Given the description of an element on the screen output the (x, y) to click on. 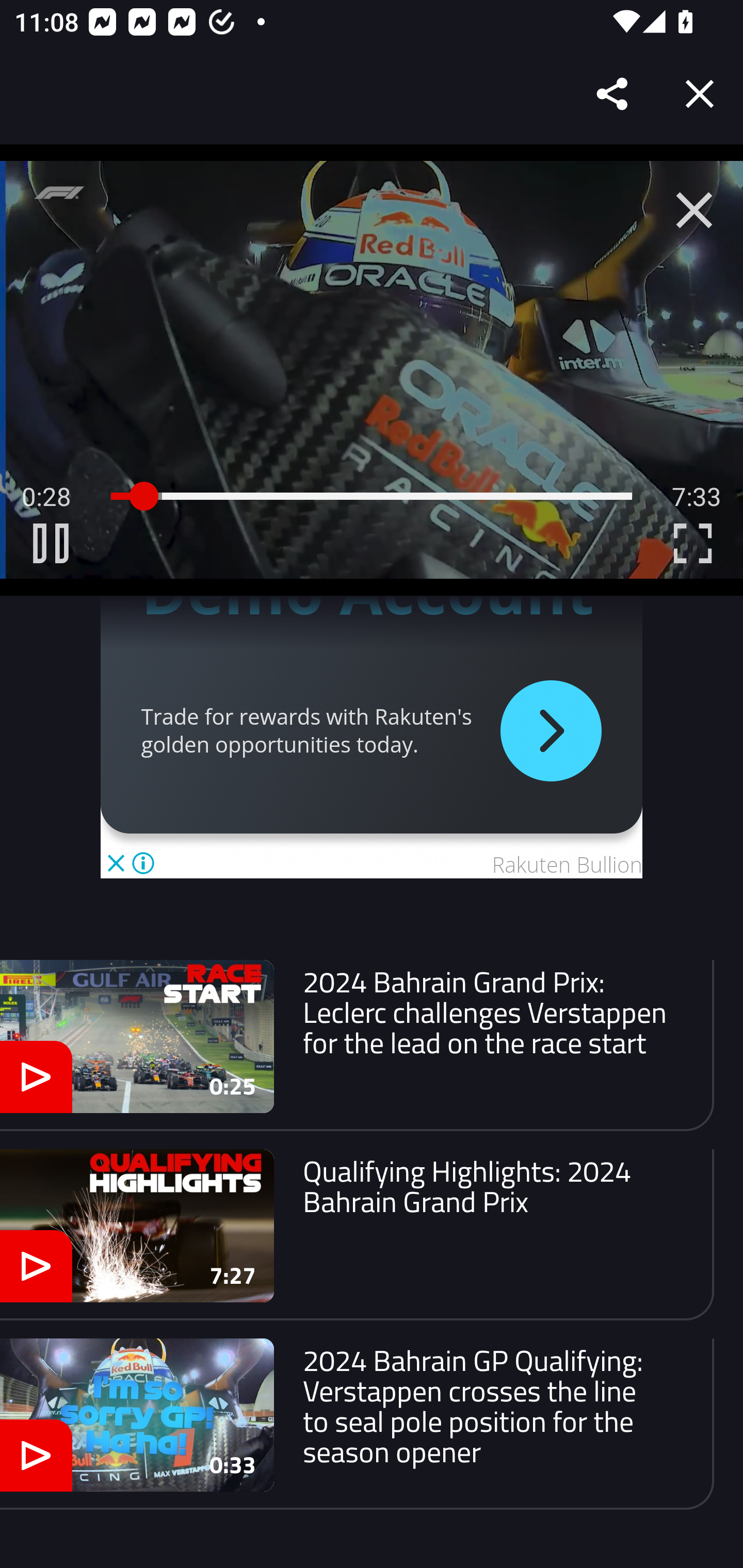
Share (612, 93)
Close (699, 93)
 Close (693, 210)
B Pause (50, 543)
C Enter Fullscreen (692, 543)
Rakuten Bullion (566, 865)
